Given the description of an element on the screen output the (x, y) to click on. 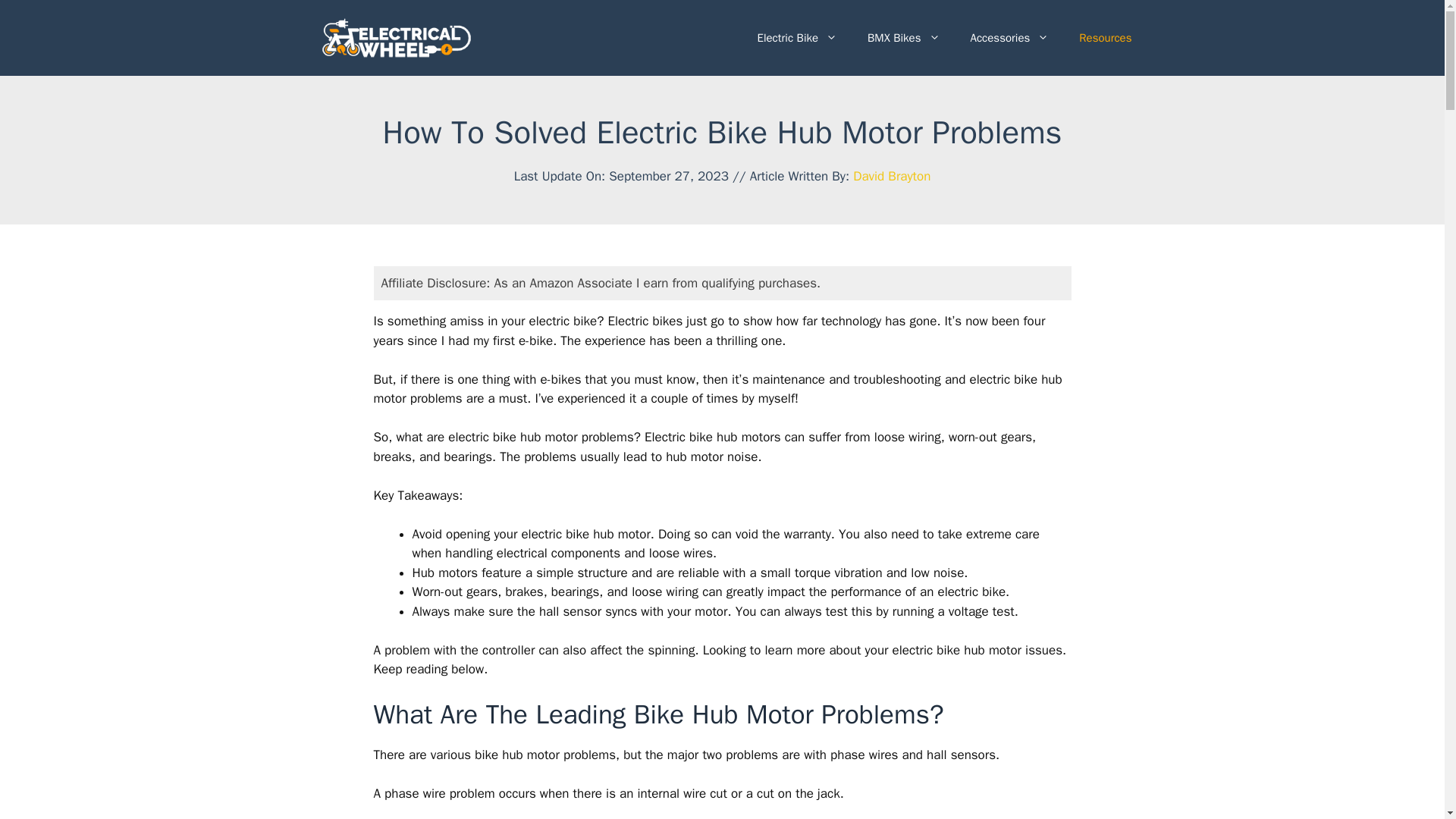
Electric Bike (796, 37)
BMX Bikes (903, 37)
David Brayton (891, 176)
Accessories (1009, 37)
Resources (1105, 37)
View all posts by David Brayton (891, 176)
